Given the description of an element on the screen output the (x, y) to click on. 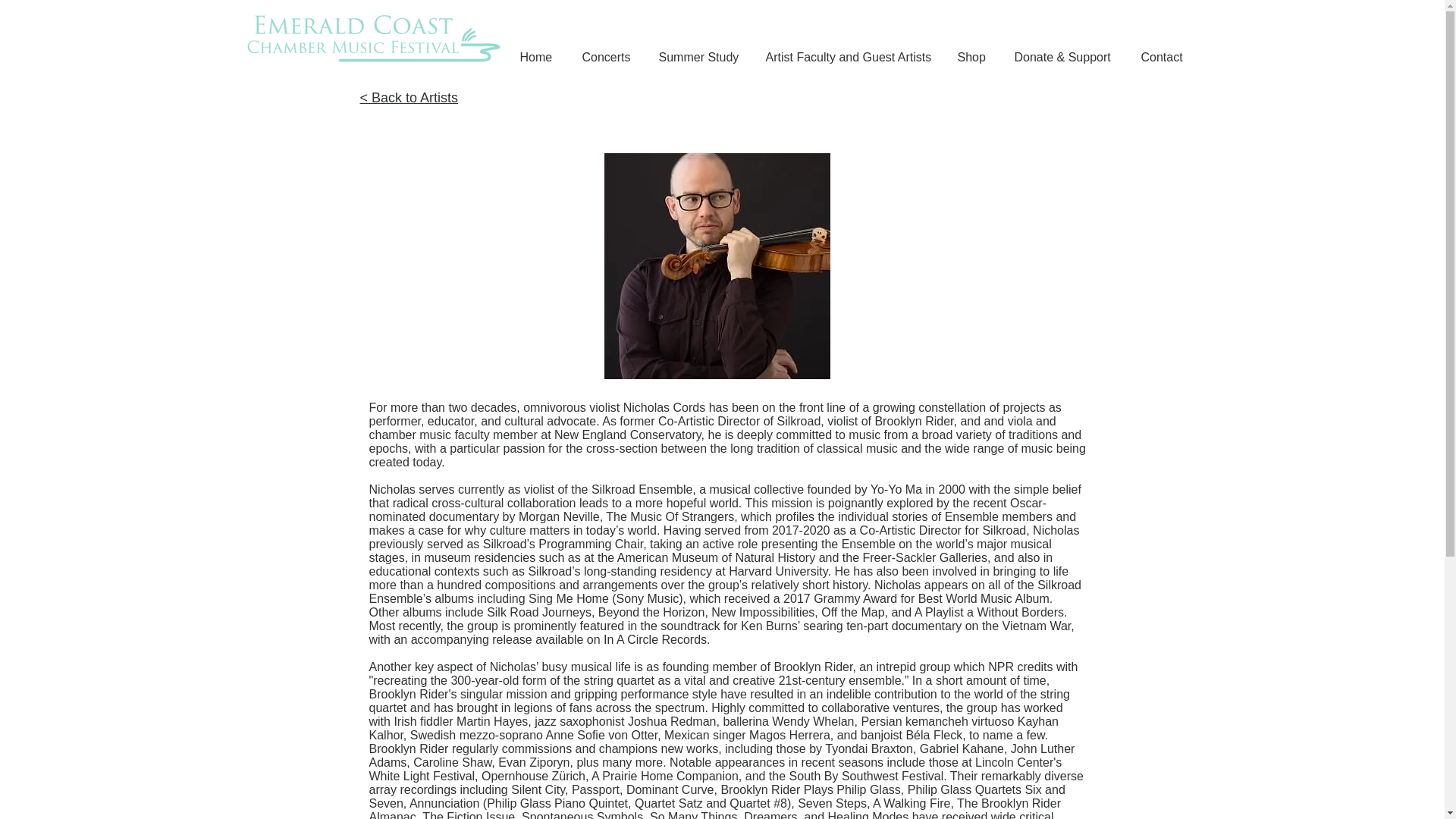
Contact (1164, 57)
Shop (974, 57)
Home (539, 57)
Concerts (608, 57)
Artist Faculty and Guest Artists (849, 57)
